Given the description of an element on the screen output the (x, y) to click on. 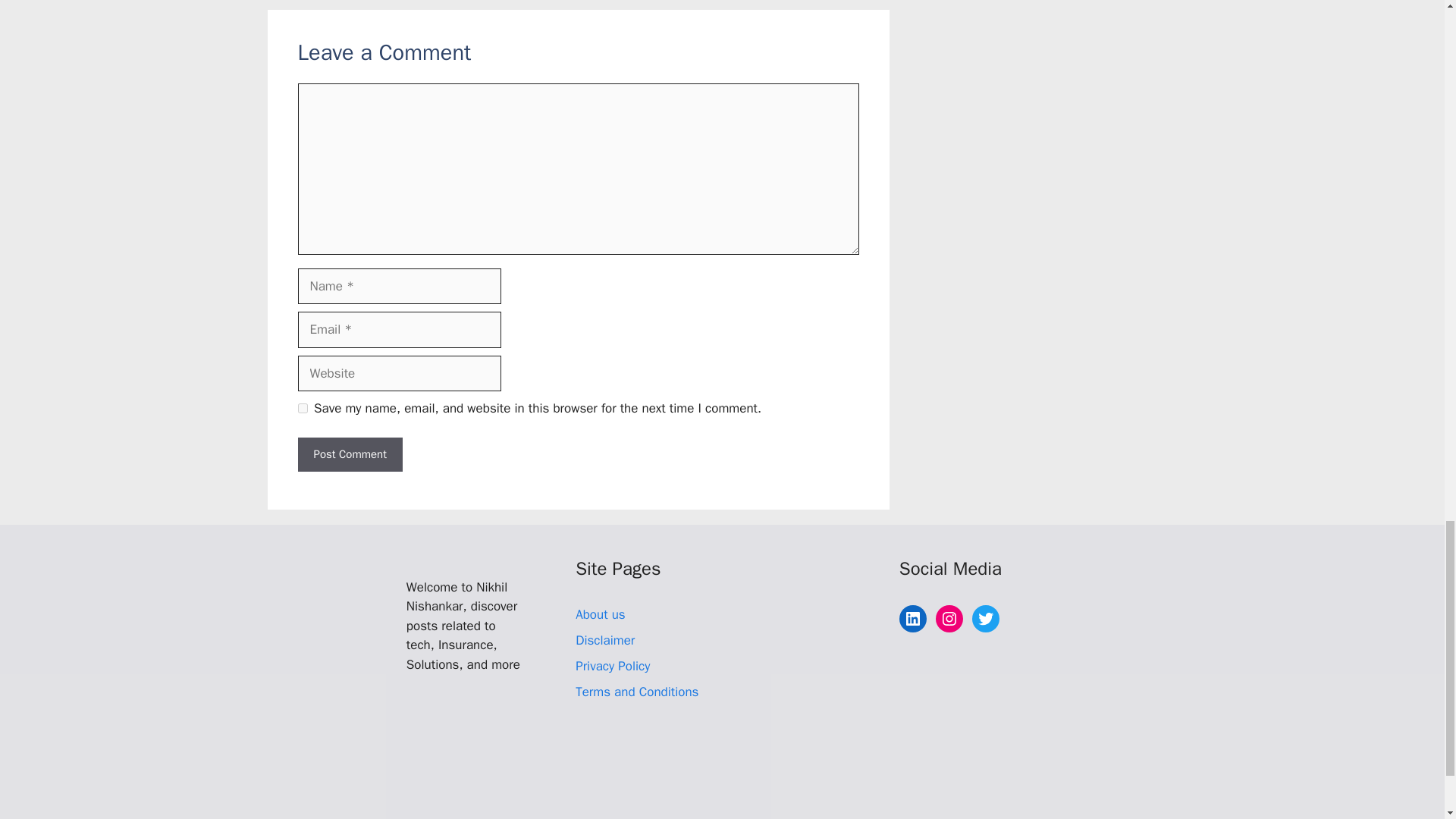
yes (302, 408)
Post Comment (349, 454)
Instagram (949, 618)
Twitter (985, 618)
Disclaimer (604, 640)
Privacy Policy (612, 666)
About us (600, 614)
Terms and Conditions (636, 691)
LinkedIn (912, 618)
Post Comment (349, 454)
